Given the description of an element on the screen output the (x, y) to click on. 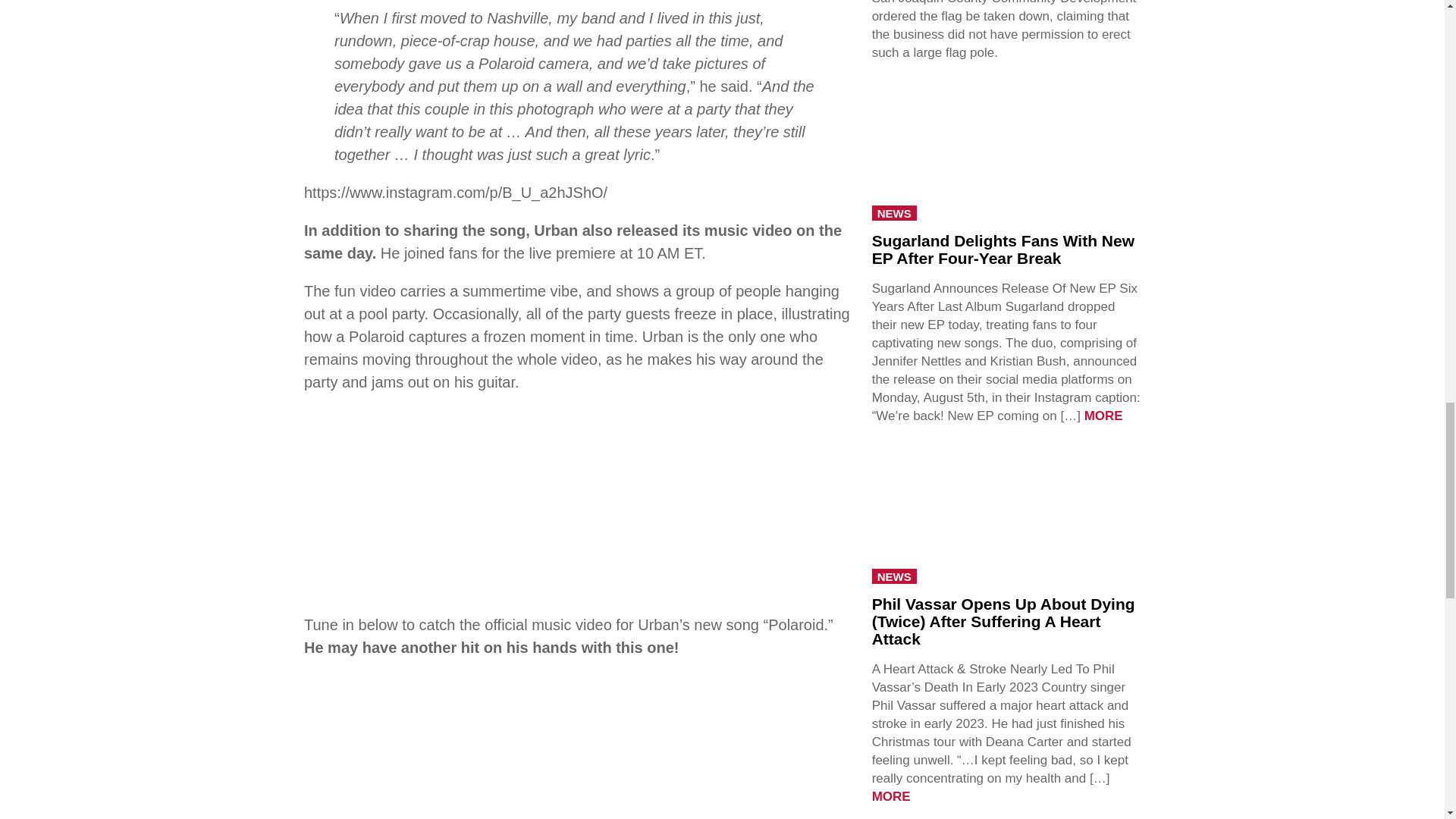
phil-vassar-heart-attack (1006, 515)
Sugarland Delights Fans With New EP After Four-Year Break (1003, 248)
NEWS (894, 212)
